Given the description of an element on the screen output the (x, y) to click on. 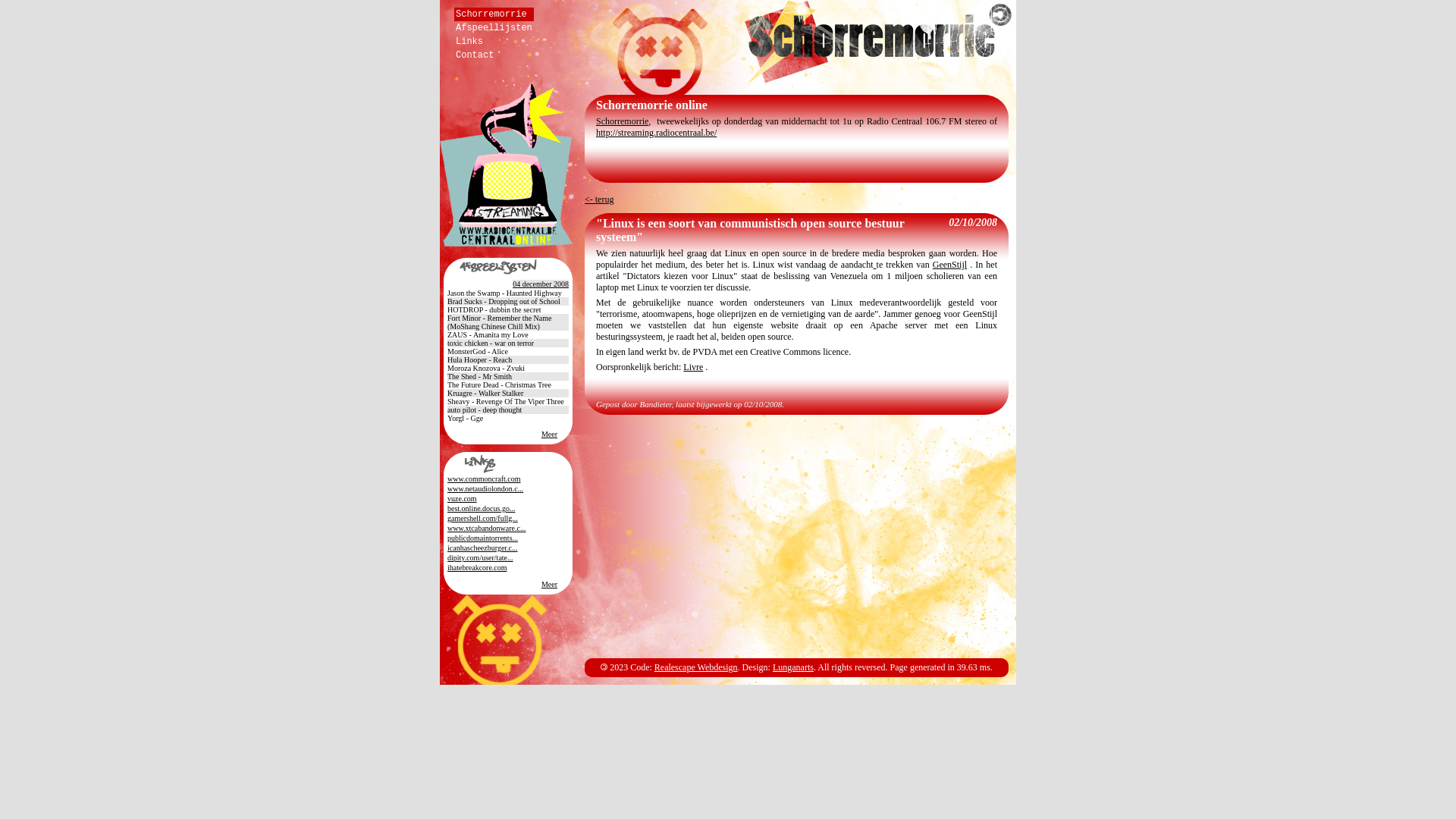
www.netaudiolondon.c... Element type: text (485, 488)
Afspeellijsten Element type: text (493, 27)
Livre Element type: text (692, 366)
Muhaha Element type: hover (498, 639)
http://streaming.radiocentraal.be/ Element type: text (656, 132)
Links Element type: text (493, 41)
gamershell.com/fullg... Element type: text (482, 518)
GeenStijl Element type: text (949, 264)
best.online.docus.go... Element type: text (480, 508)
Schorremorrie Element type: text (622, 121)
vuze.com Element type: text (461, 498)
Afspeellijsten Element type: hover (507, 268)
04 december 2008 Element type: text (540, 283)
Schorremorrie Element type: hover (880, 41)
icanhascheezburger.c... Element type: text (482, 547)
www.commoncraft.com Element type: text (483, 478)
Schorremorrie Element type: text (493, 14)
dipity.com/user/tate... Element type: text (480, 557)
Realescape Webdesign Element type: text (695, 667)
publicdomaintorrents... Element type: text (482, 537)
ihatebreakcore.com Element type: text (477, 567)
Contact Element type: text (493, 55)
Lunganarts Element type: text (792, 667)
<- terug Element type: text (598, 199)
Meer Element type: text (549, 584)
Radio Centraal Stream Element type: hover (506, 165)
Copyleft Element type: hover (603, 666)
Meer Element type: text (549, 433)
www.xtcabandonware.c... Element type: text (486, 528)
links Element type: hover (507, 462)
